Given the description of an element on the screen output the (x, y) to click on. 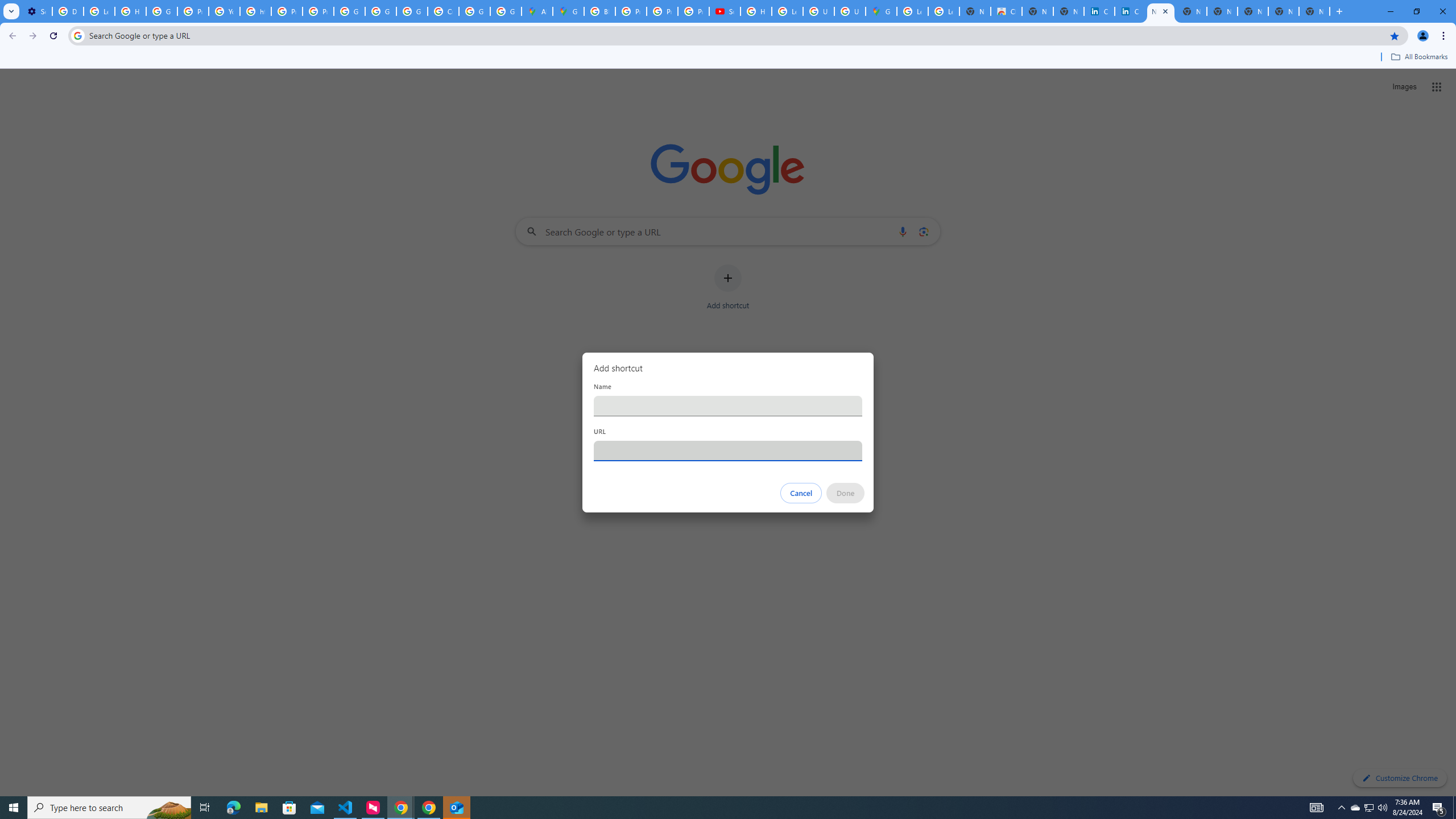
Cookie Policy | LinkedIn (1129, 11)
Bookmark this tab (1393, 35)
New Tab (1338, 11)
Cookie Policy | LinkedIn (1098, 11)
Search icon (77, 35)
Settings - Customize profile (36, 11)
Chrome Web Store (1005, 11)
New Tab (1314, 11)
Privacy Help Center - Policies Help (192, 11)
